Given the description of an element on the screen output the (x, y) to click on. 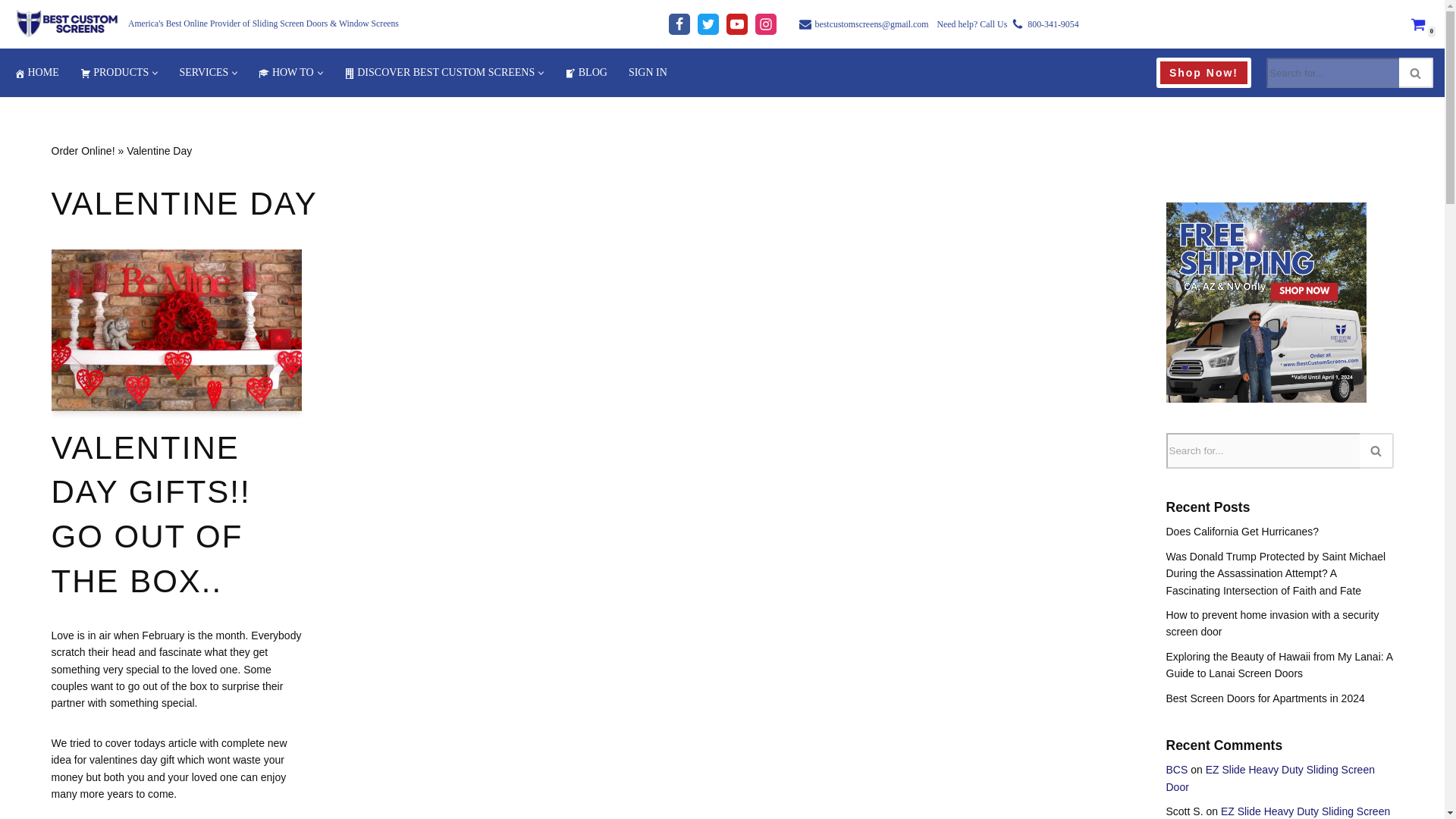
Twitter (708, 24)
HOME (36, 72)
Skip to content (11, 31)
PRODUCTS (114, 72)
Valentine Day Gifts Be like. (175, 329)
Instagram (765, 24)
Facebook (679, 24)
Youtube (737, 24)
800-341-9054 (1052, 24)
0 (1417, 23)
